Given the description of an element on the screen output the (x, y) to click on. 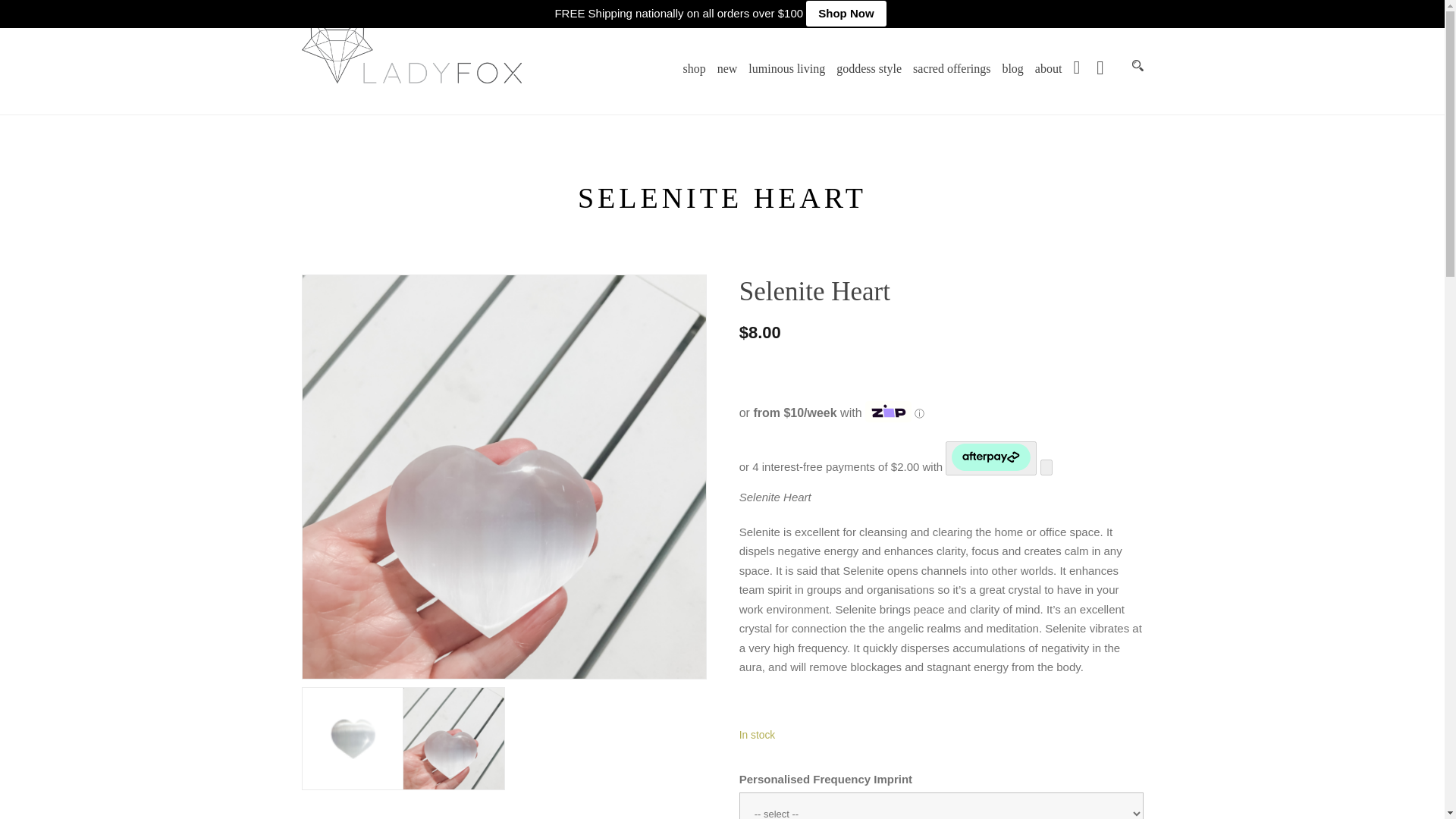
PayPal Message 1 (852, 372)
Selenite Heart 60mm lady fox (454, 738)
Selenite Heart Lady Fox (352, 738)
